Given the description of an element on the screen output the (x, y) to click on. 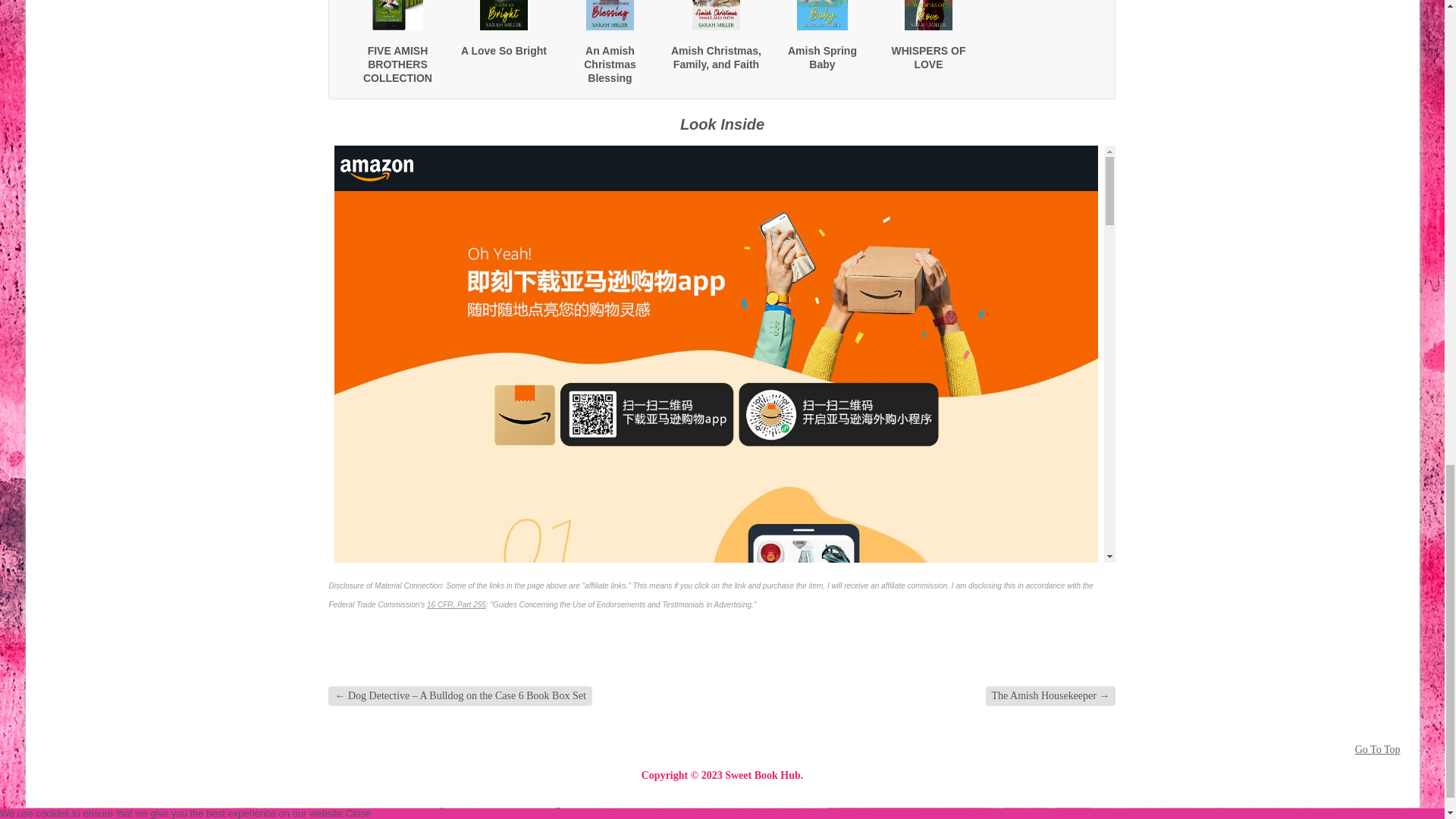
An Amish Christmas Blessing (608, 64)
FIVE AMISH BROTHERS COLLECTION (397, 64)
A Love So Bright (504, 50)
